Given the description of an element on the screen output the (x, y) to click on. 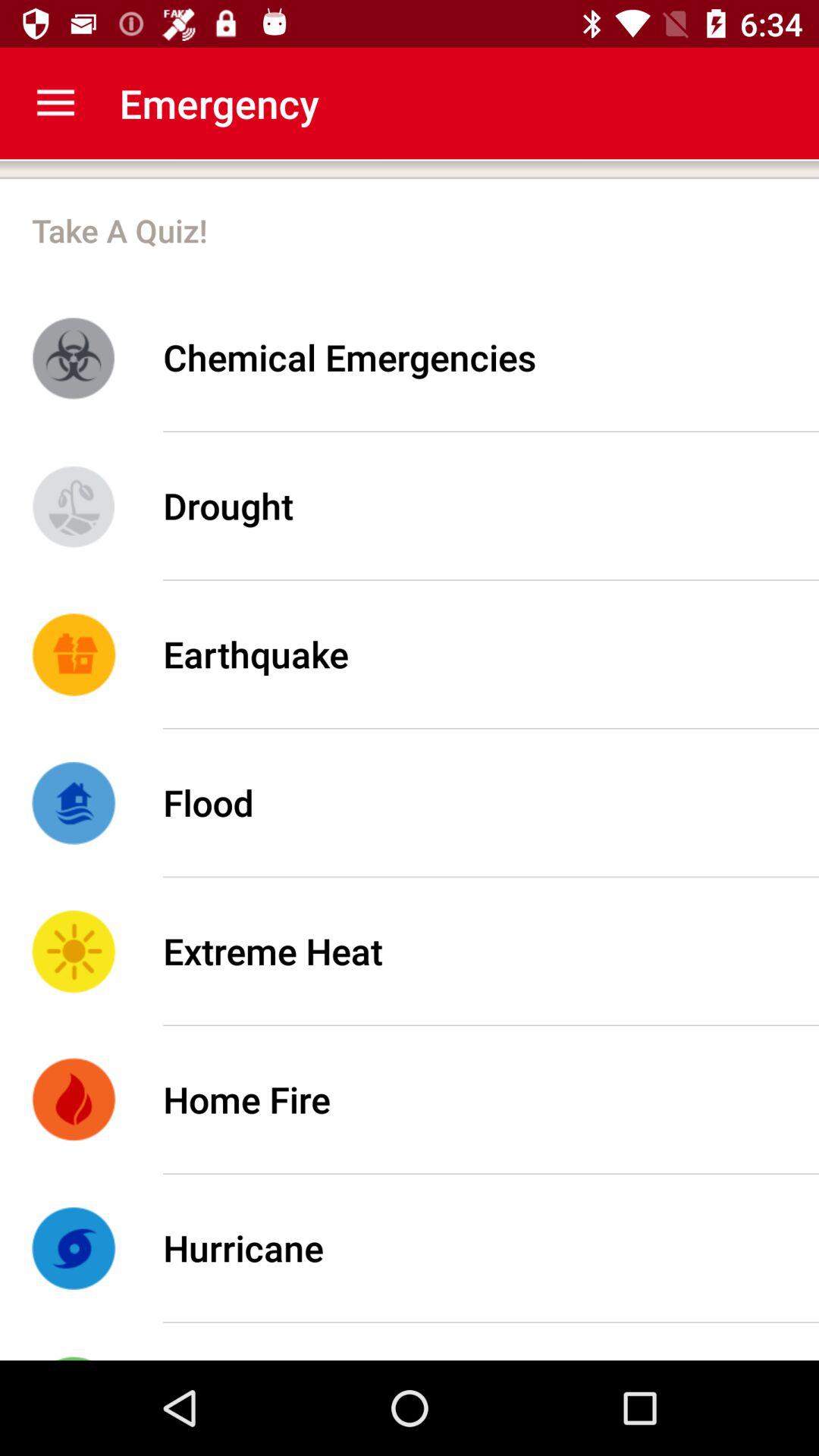
choose icon next to the emergency item (55, 103)
